Given the description of an element on the screen output the (x, y) to click on. 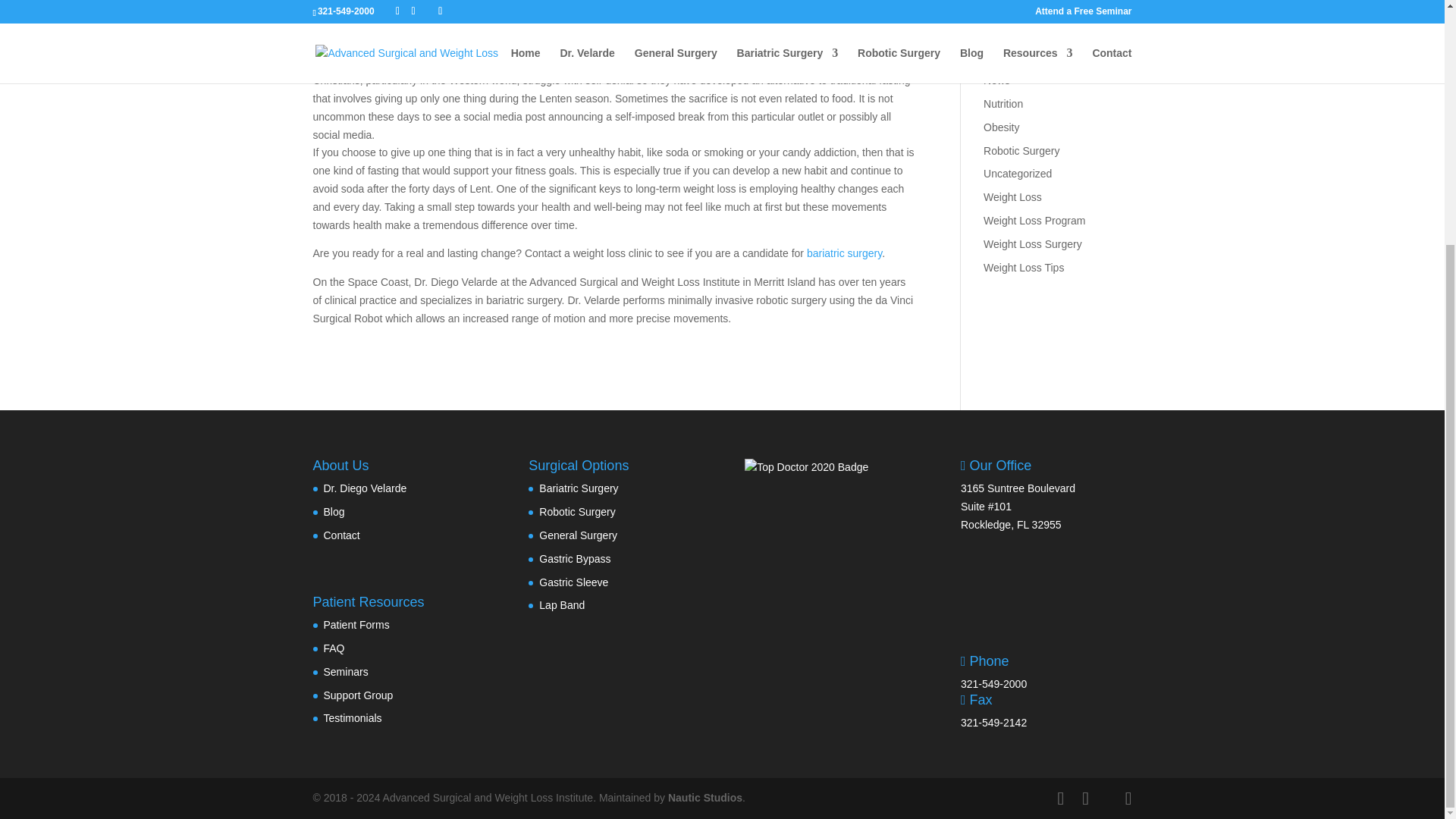
Health (998, 33)
bariatric surgery (844, 253)
Lap Band Surgery (1026, 56)
Gastric Sleeve Surgery (1038, 10)
your body reacts (523, 15)
